Given the description of an element on the screen output the (x, y) to click on. 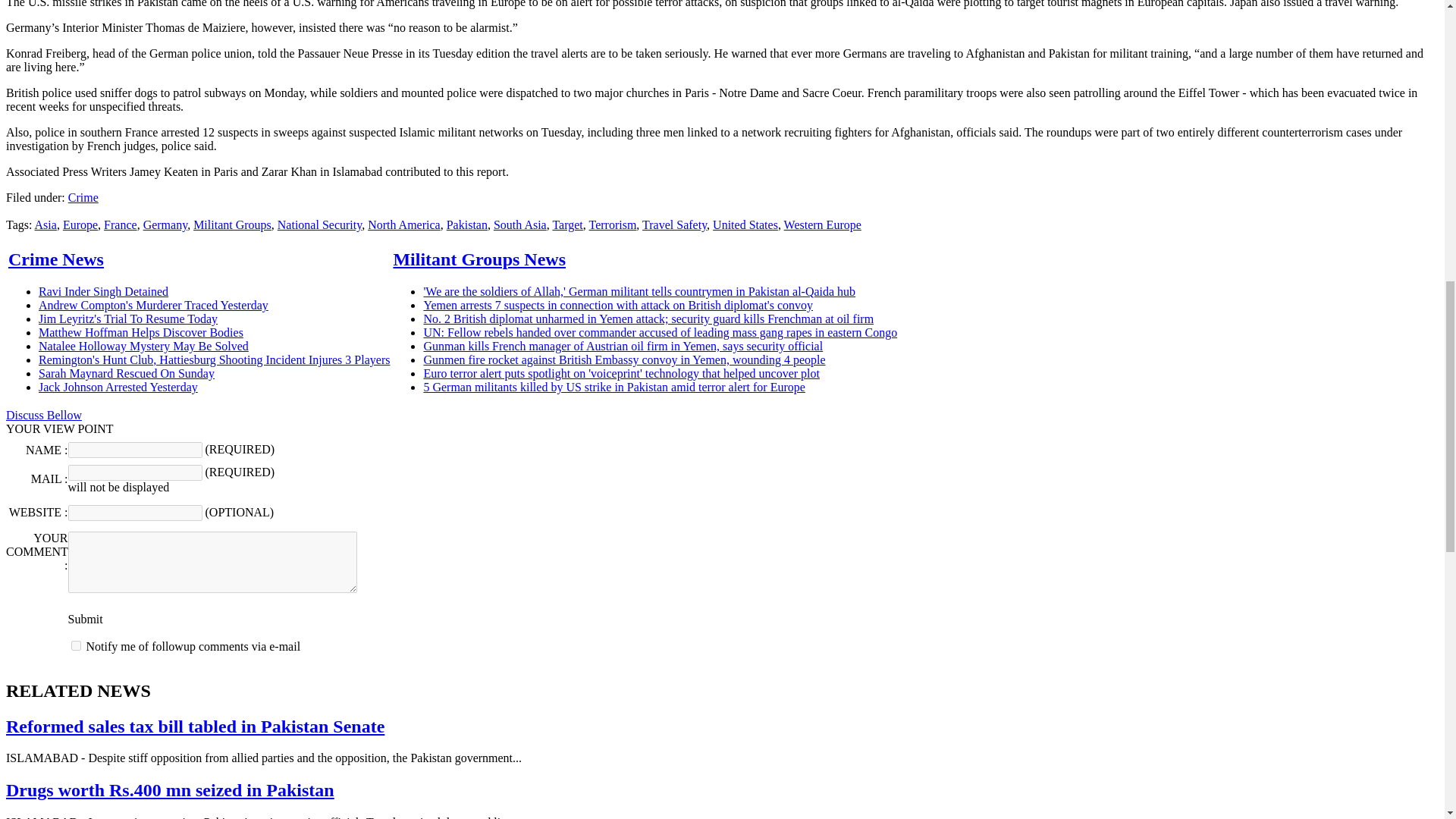
subscribe (76, 645)
Asia (45, 224)
Militant Groups (231, 224)
Crime (83, 196)
Germany (164, 224)
National Security (319, 224)
Europe (79, 224)
France (119, 224)
North America (404, 224)
